Given the description of an element on the screen output the (x, y) to click on. 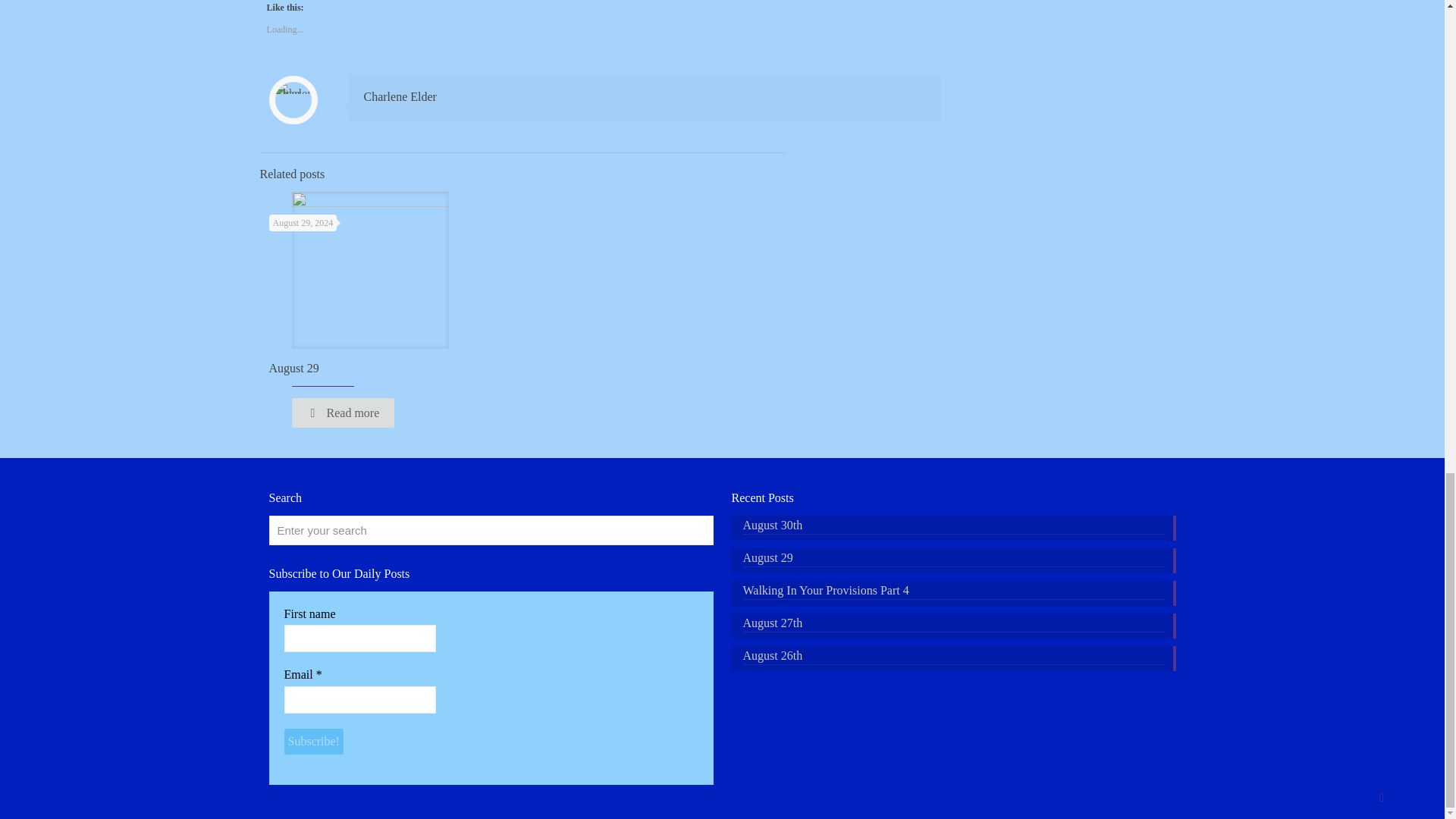
Charlene Elder (400, 96)
Email (359, 699)
Read more (342, 412)
First name (359, 637)
August 29 (292, 367)
Subscribe! (312, 741)
